Given the description of an element on the screen output the (x, y) to click on. 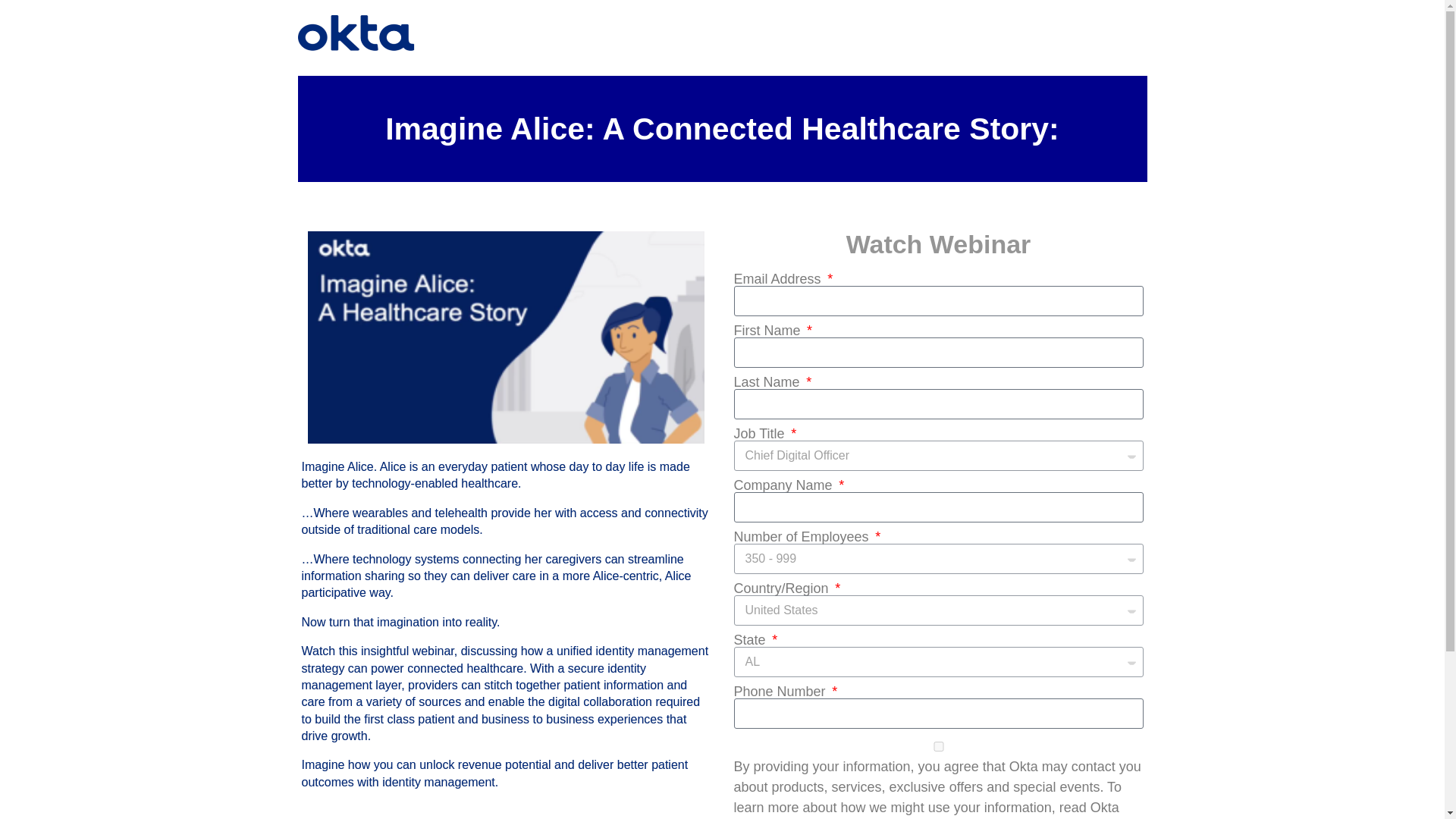
on (937, 746)
LOGO-1 (356, 33)
